Given the description of an element on the screen output the (x, y) to click on. 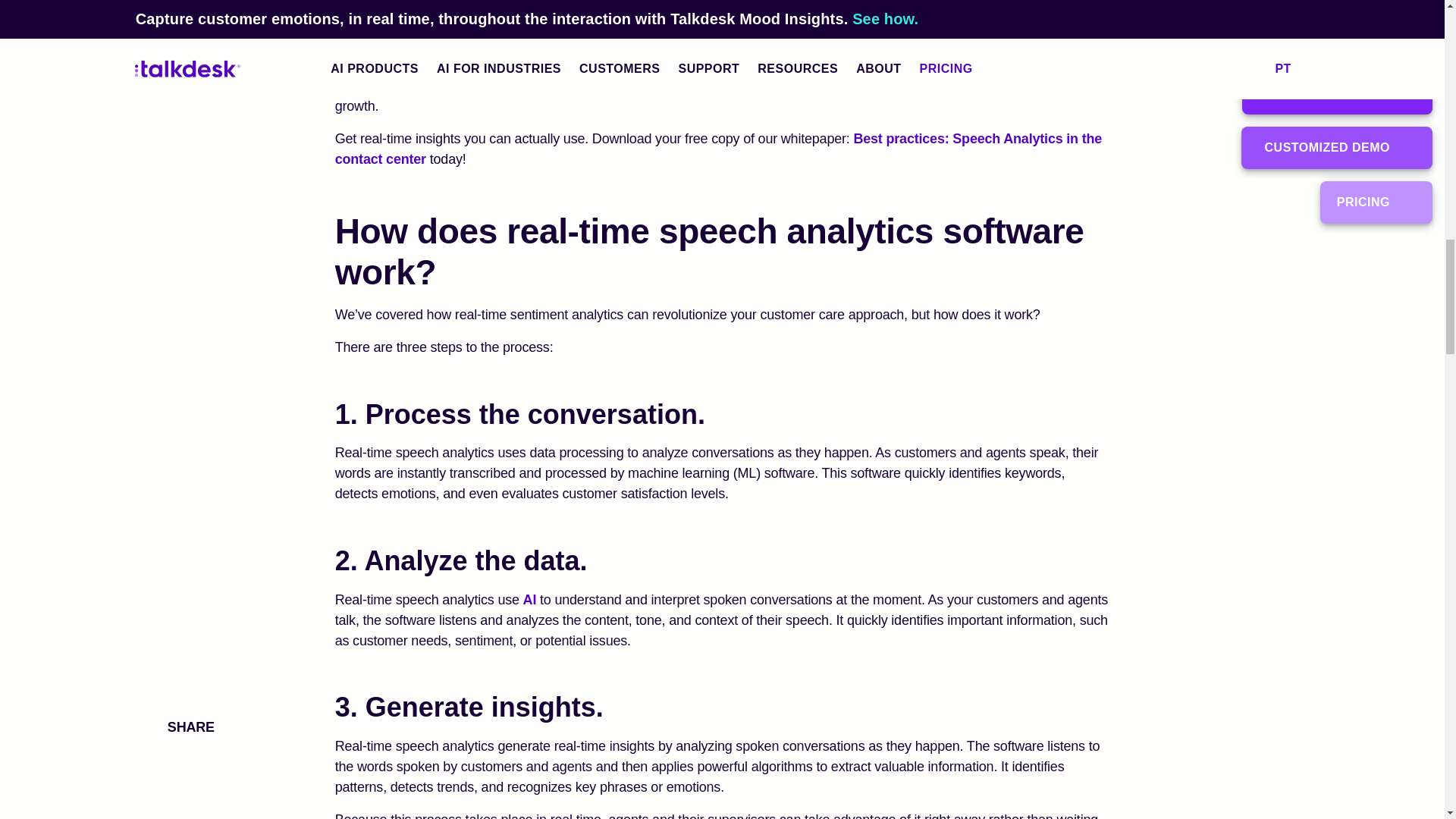
reduce overall call volume (822, 3)
AI (529, 599)
Best practices: Speech Analytics in the contact center (718, 149)
